Given the description of an element on the screen output the (x, y) to click on. 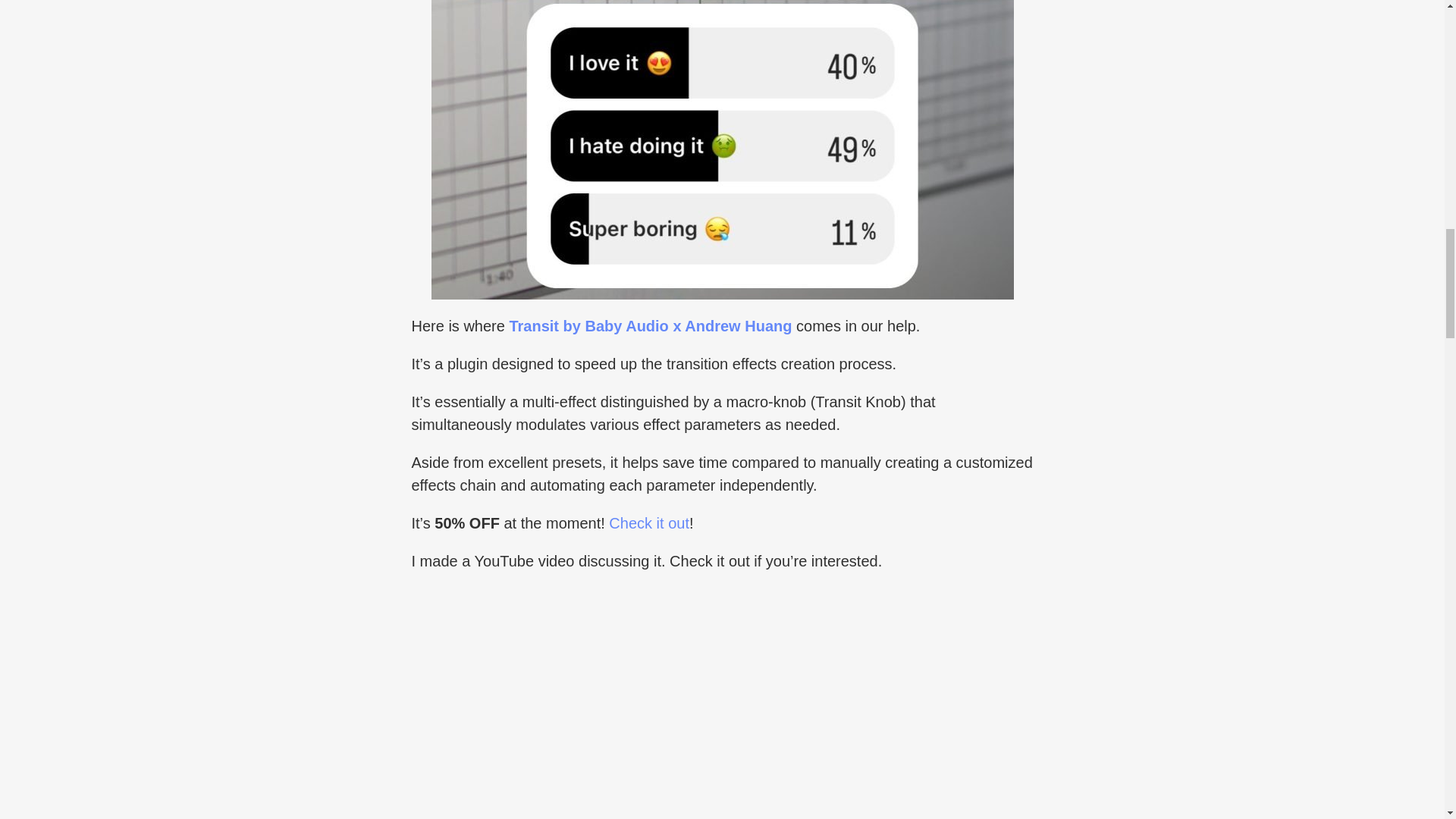
Check it out (648, 523)
Transit by Baby Audio x Andrew Huang (650, 325)
